Given the description of an element on the screen output the (x, y) to click on. 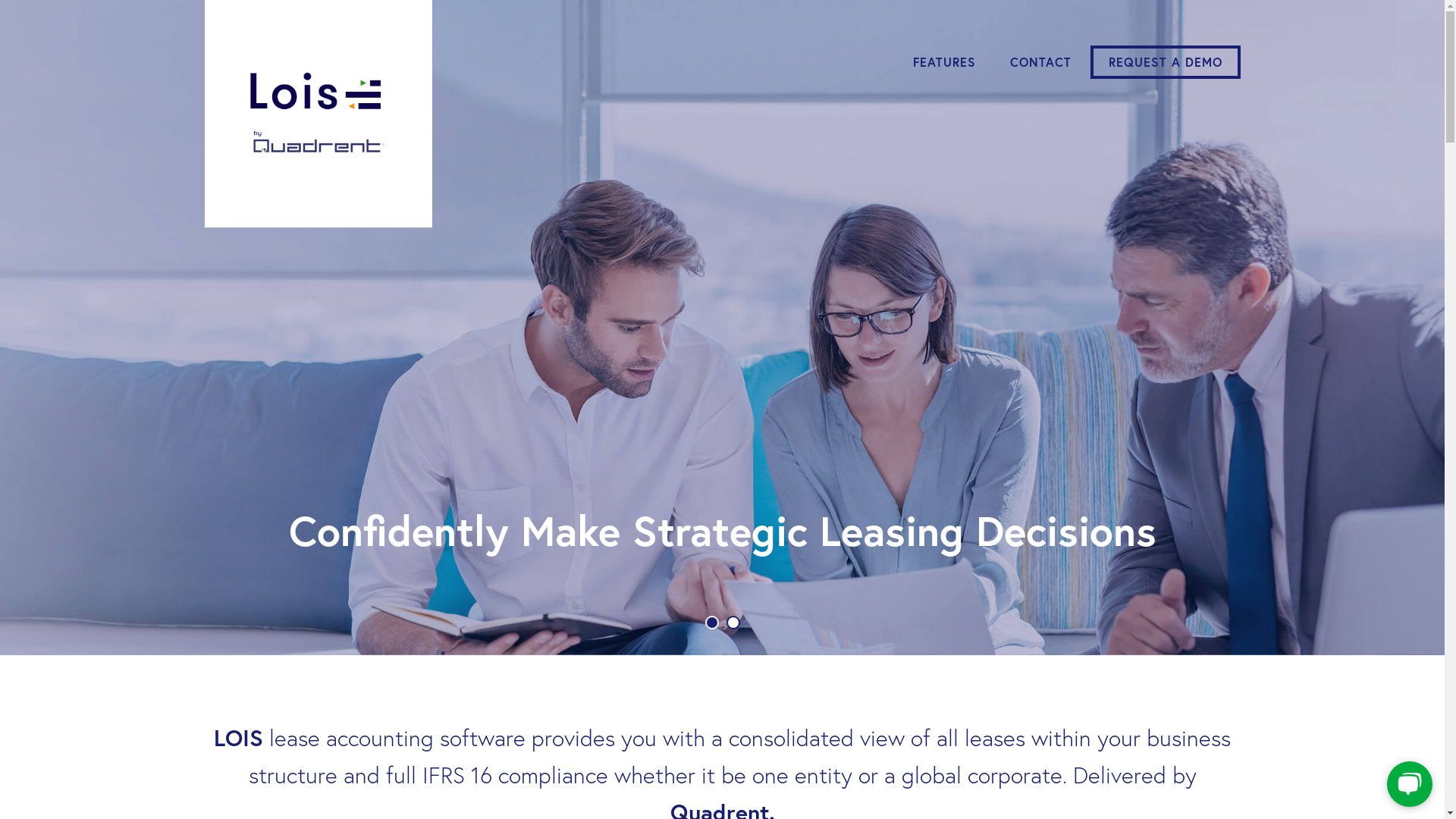
Skip to primary navigation Element type: text (0, 0)
FEATURES Element type: text (944, 61)
REQUEST A DEMO Element type: text (1165, 61)
2 Element type: text (733, 622)
CONTACT Element type: text (1040, 61)
1 Element type: text (711, 622)
Lois Leasing Element type: text (318, 113)
